Given the description of an element on the screen output the (x, y) to click on. 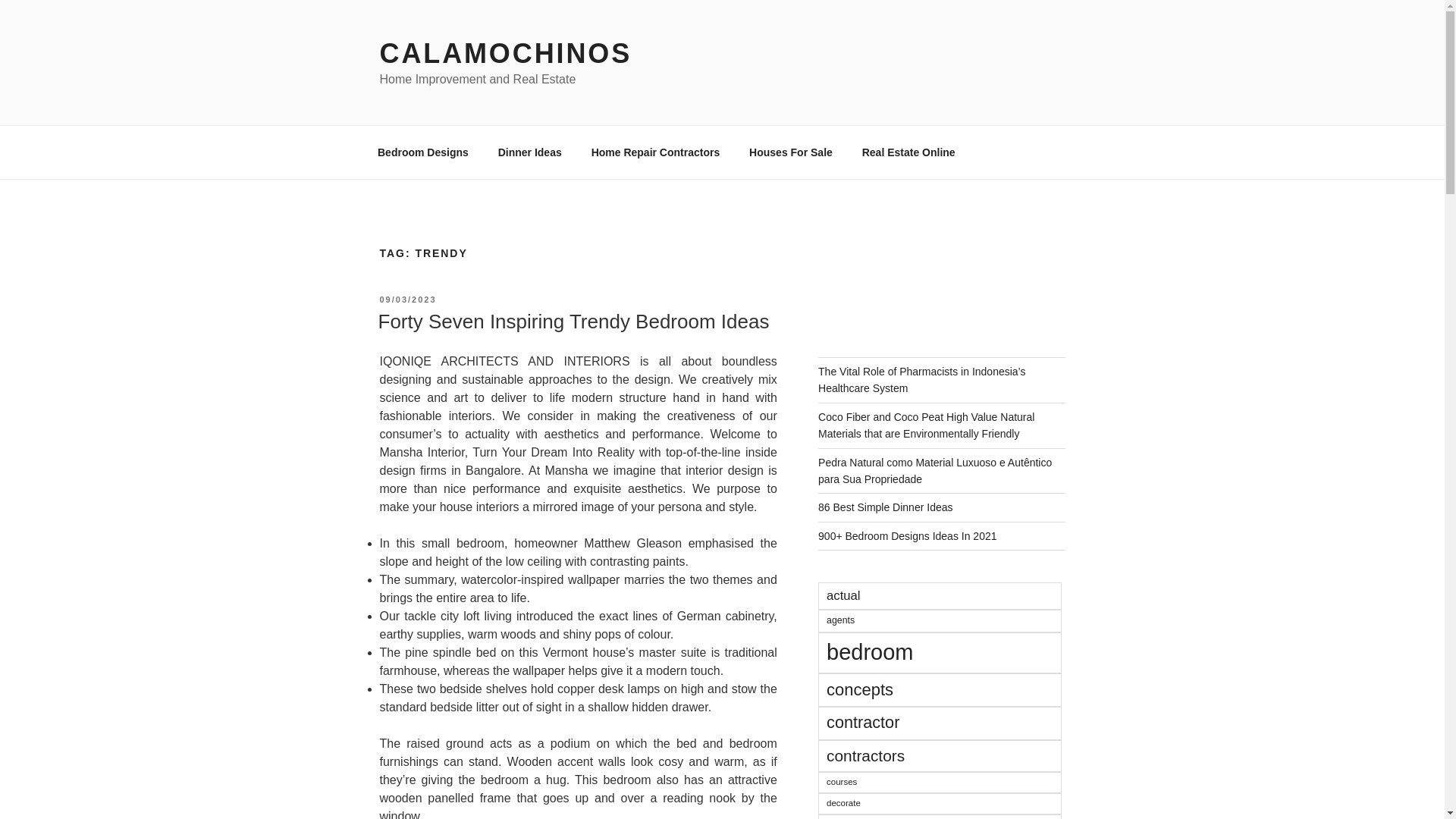
concepts (939, 689)
Houses For Sale (790, 151)
contractors (939, 756)
contractor (939, 723)
bedroom (939, 653)
Dinner Ideas (529, 151)
Forty Seven Inspiring Trendy Bedroom Ideas (572, 321)
Real Estate Online (908, 151)
86 Best Simple Dinner Ideas (885, 507)
decorating (939, 816)
Bedroom Designs (422, 151)
actual (939, 595)
courses (939, 782)
Home Repair Contractors (655, 151)
